Given the description of an element on the screen output the (x, y) to click on. 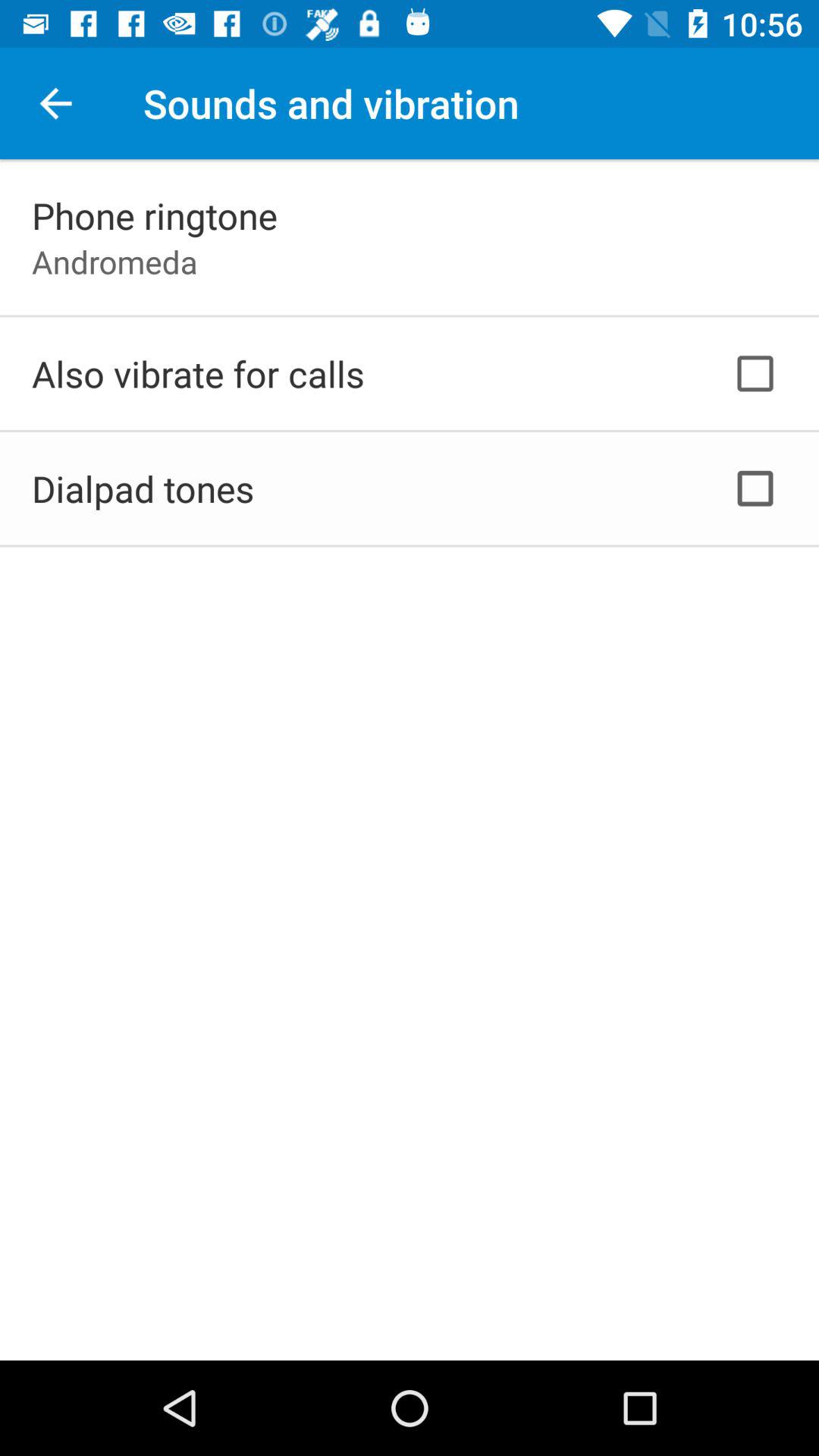
tap phone ringtone app (154, 215)
